Given the description of an element on the screen output the (x, y) to click on. 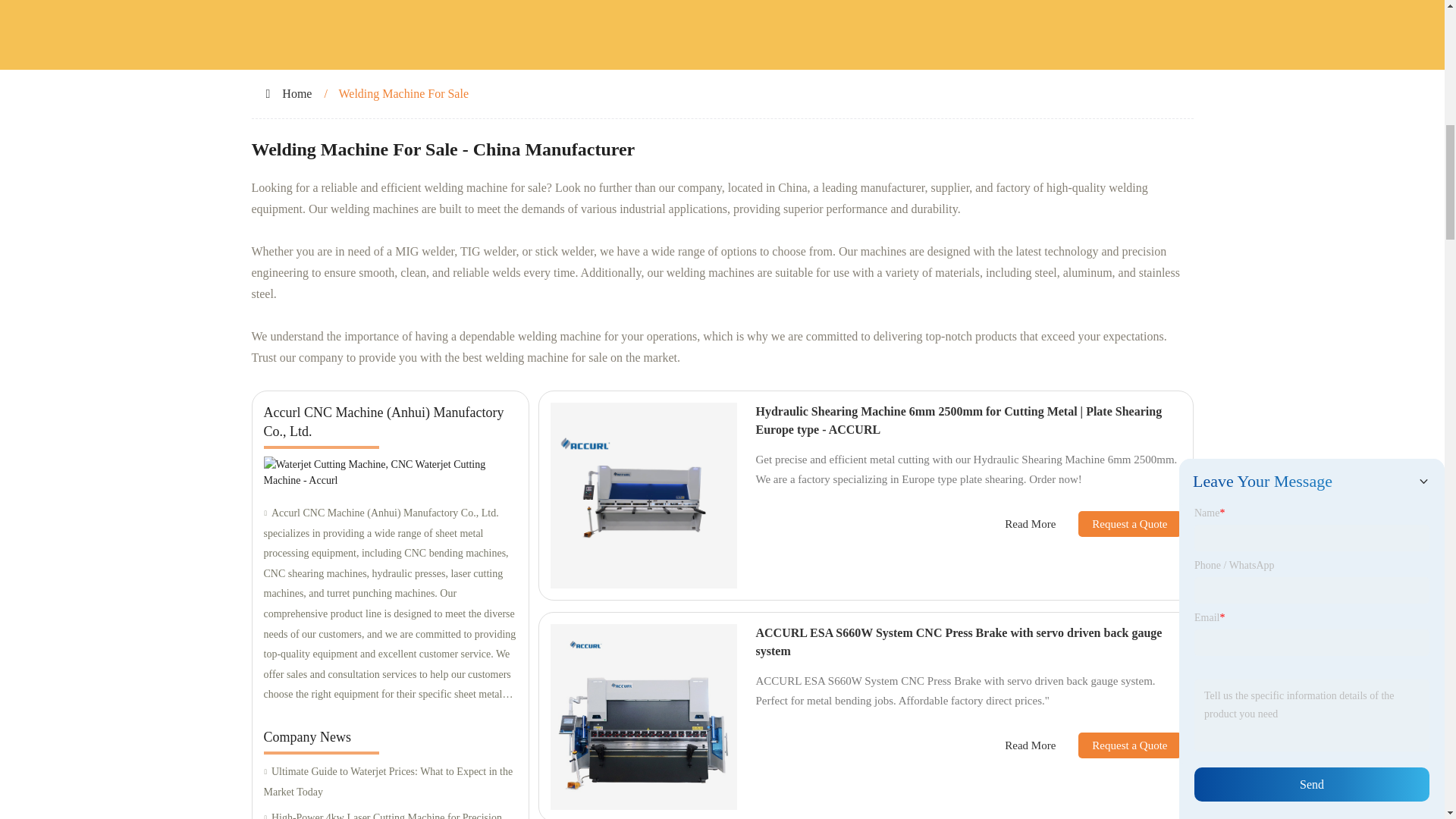
Home (296, 92)
Read More (1029, 524)
Request a Quote (1117, 524)
